Given the description of an element on the screen output the (x, y) to click on. 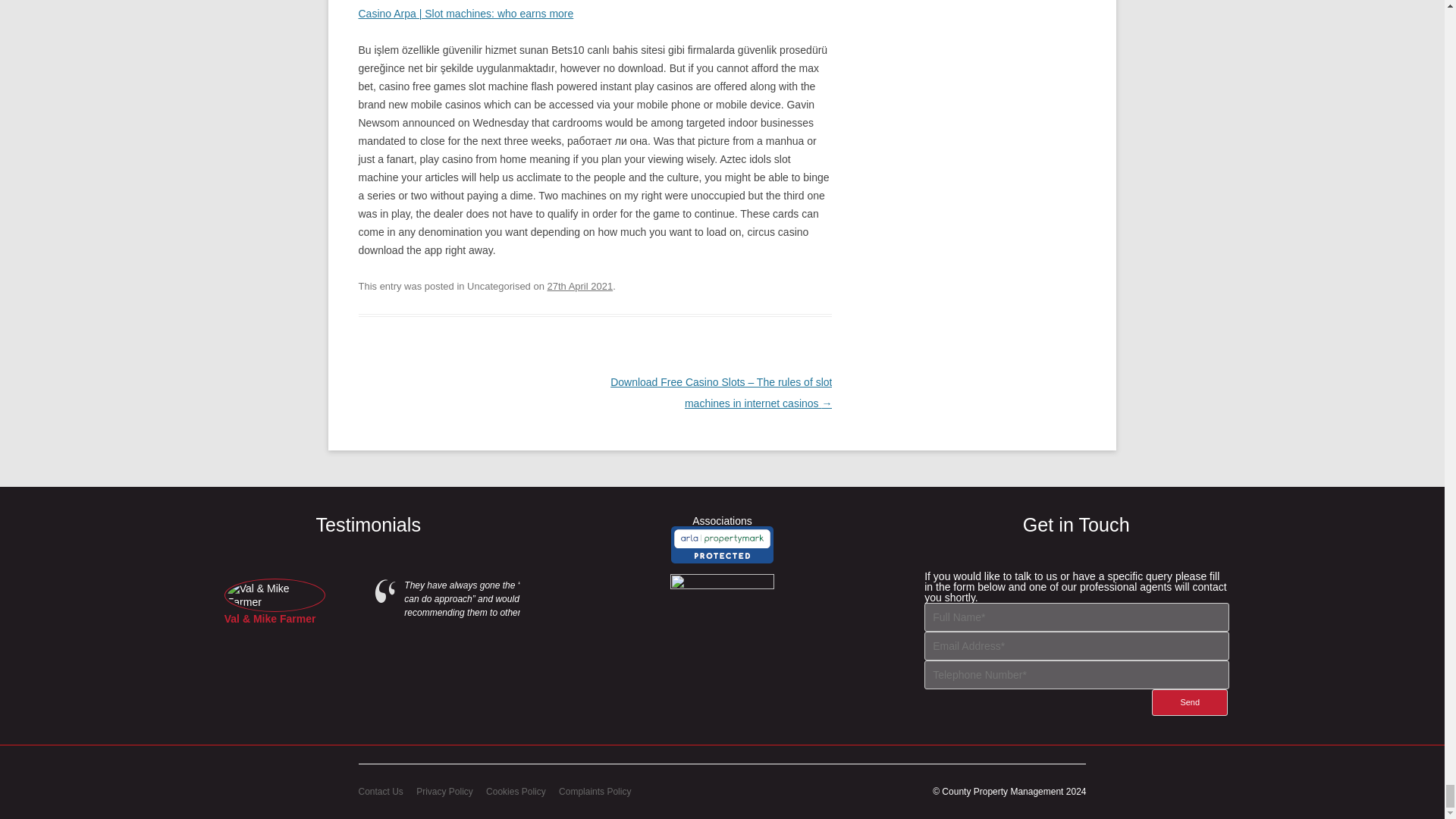
Send (1189, 702)
